Given the description of an element on the screen output the (x, y) to click on. 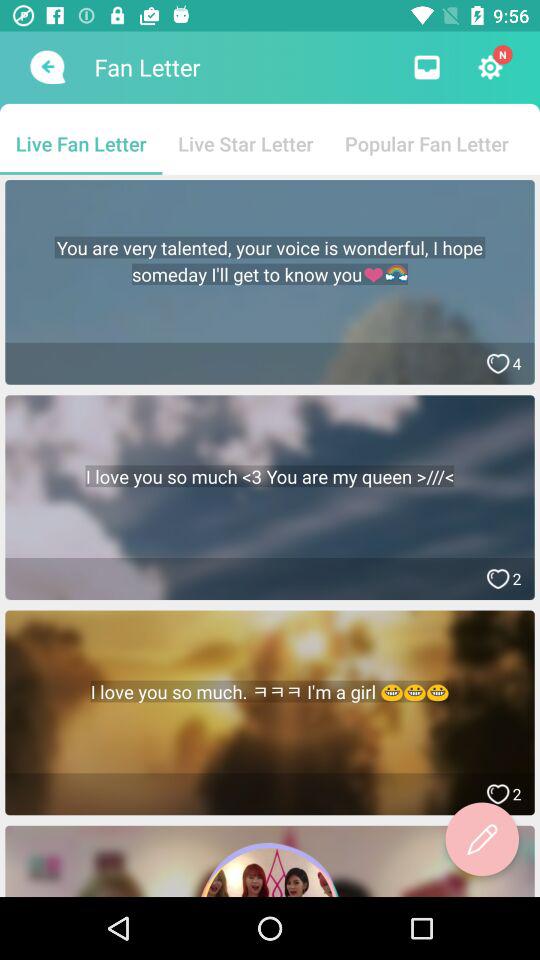
write a new article (482, 839)
